Given the description of an element on the screen output the (x, y) to click on. 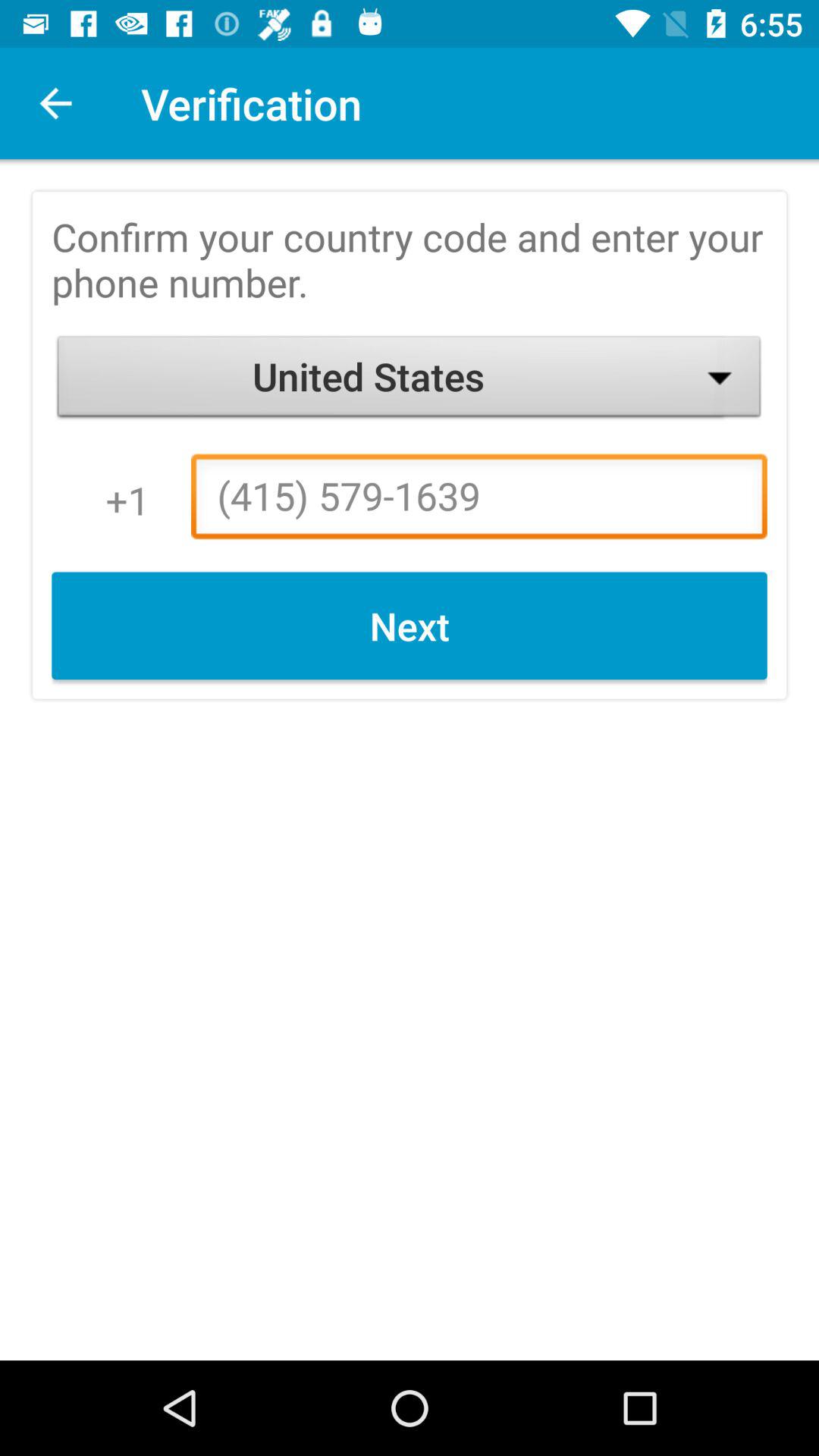
click icon below the united states (479, 500)
